Given the description of an element on the screen output the (x, y) to click on. 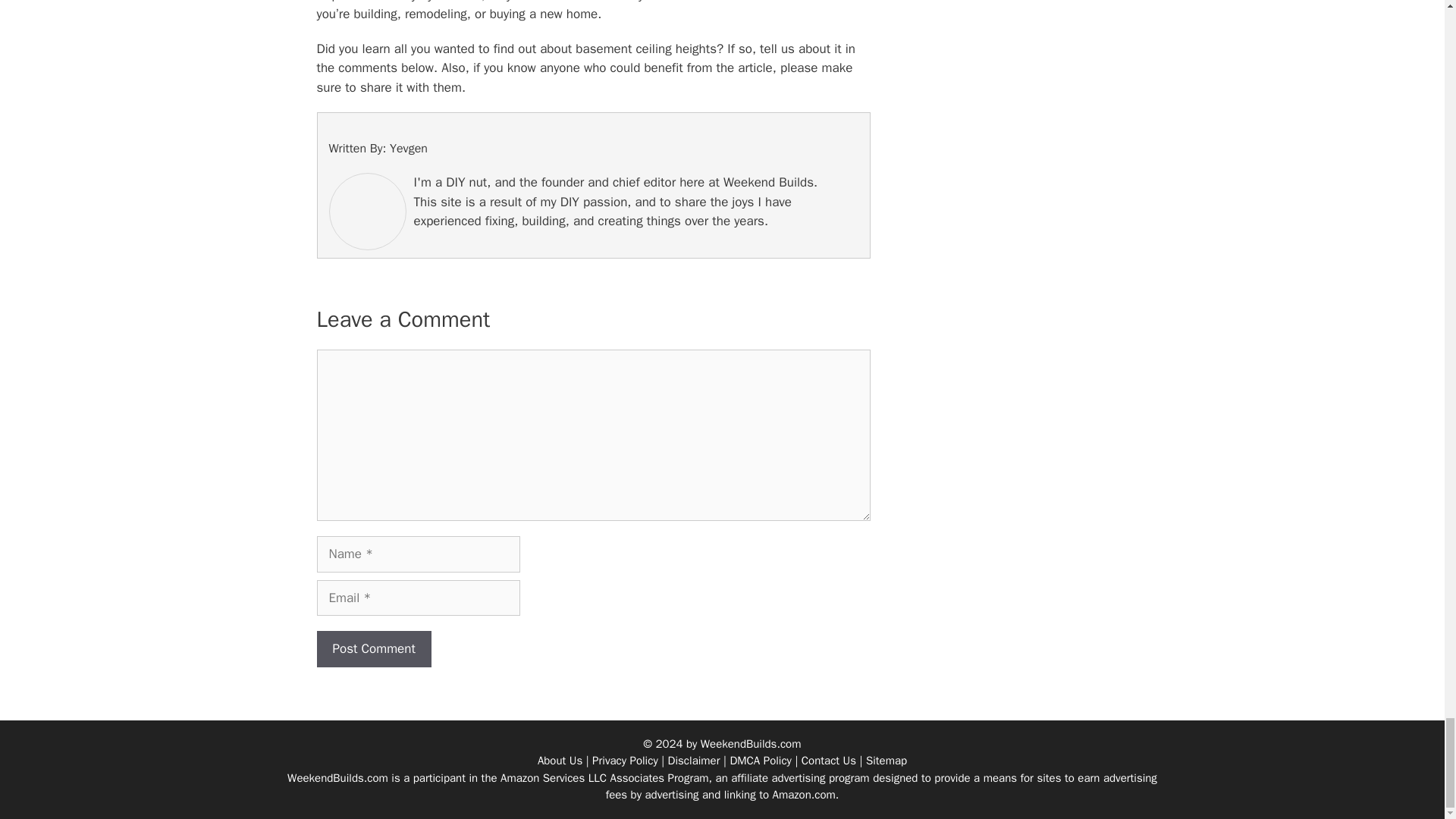
Post Comment (373, 648)
Post Comment (373, 648)
About Us (559, 760)
